Given the description of an element on the screen output the (x, y) to click on. 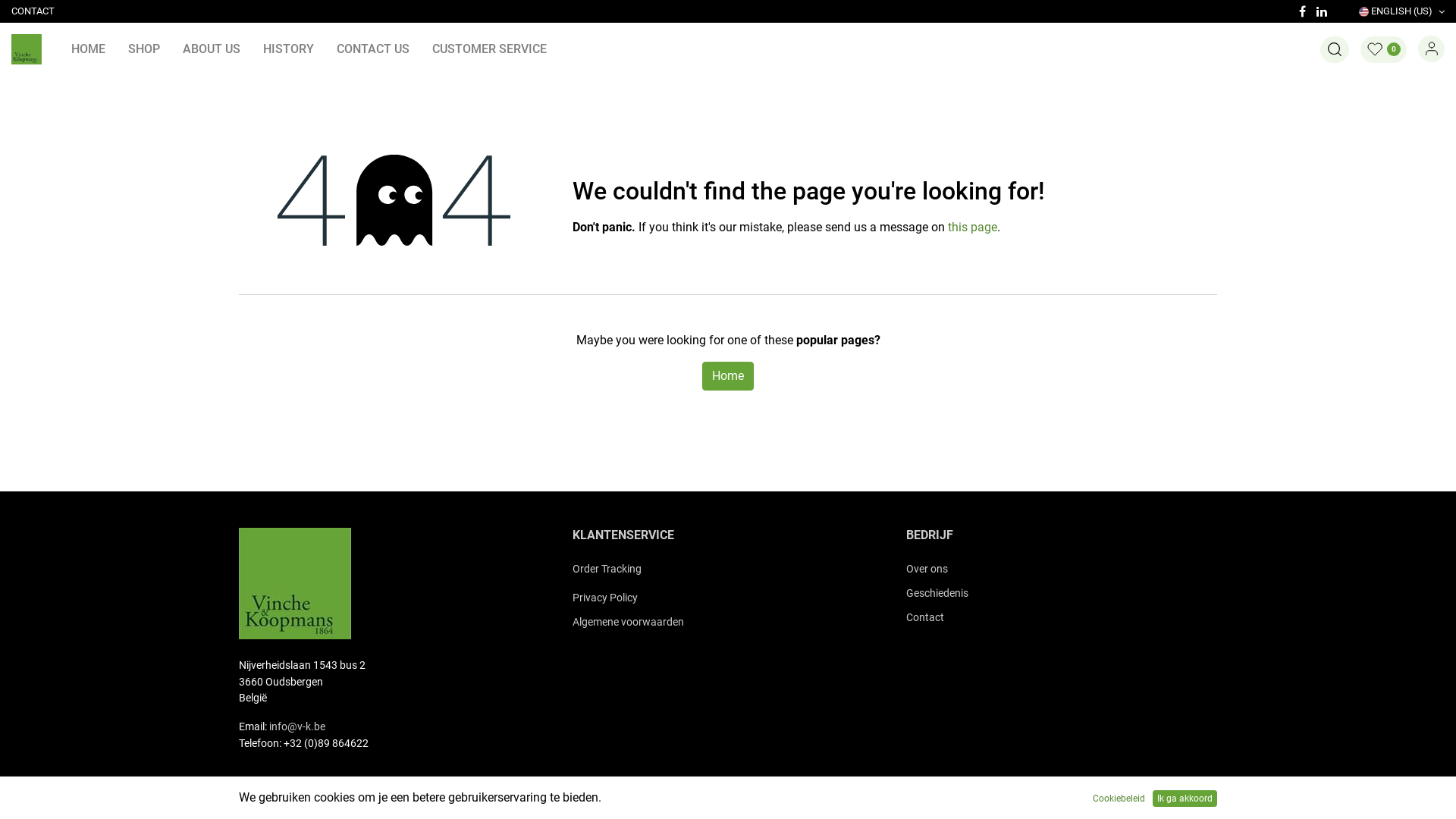
ABOUT US Element type: text (211, 49)
B2B Element type: hover (26, 49)
CUSTOMER SERVICE Element type: text (489, 49)
CONTACT US Element type: text (372, 49)
Contact Element type: text (925, 617)
Algemene voorwaarden Element type: text (628, 621)
Sign in Element type: text (1431, 48)
CONTACT Element type: text (32, 11)
Ik ga akkoord Element type: text (1184, 798)
HISTORY Element type: text (288, 49)
O Element type: text (909, 568)
ENGLISH (US) Element type: text (1401, 11)
0 Element type: text (1383, 49)
HOME Element type: text (87, 49)
Cookiebeleid Element type: text (1118, 798)
G Element type: text (909, 592)
Privacy Policy Element type: text (604, 597)
this page Element type: text (972, 226)
SHOP Element type: text (143, 49)
Order Tracking Element type: text (606, 568)
info@v-k.be Element type: text (297, 726)
English (US) Element type: text (446, 797)
Home Element type: text (727, 375)
